Given the description of an element on the screen output the (x, y) to click on. 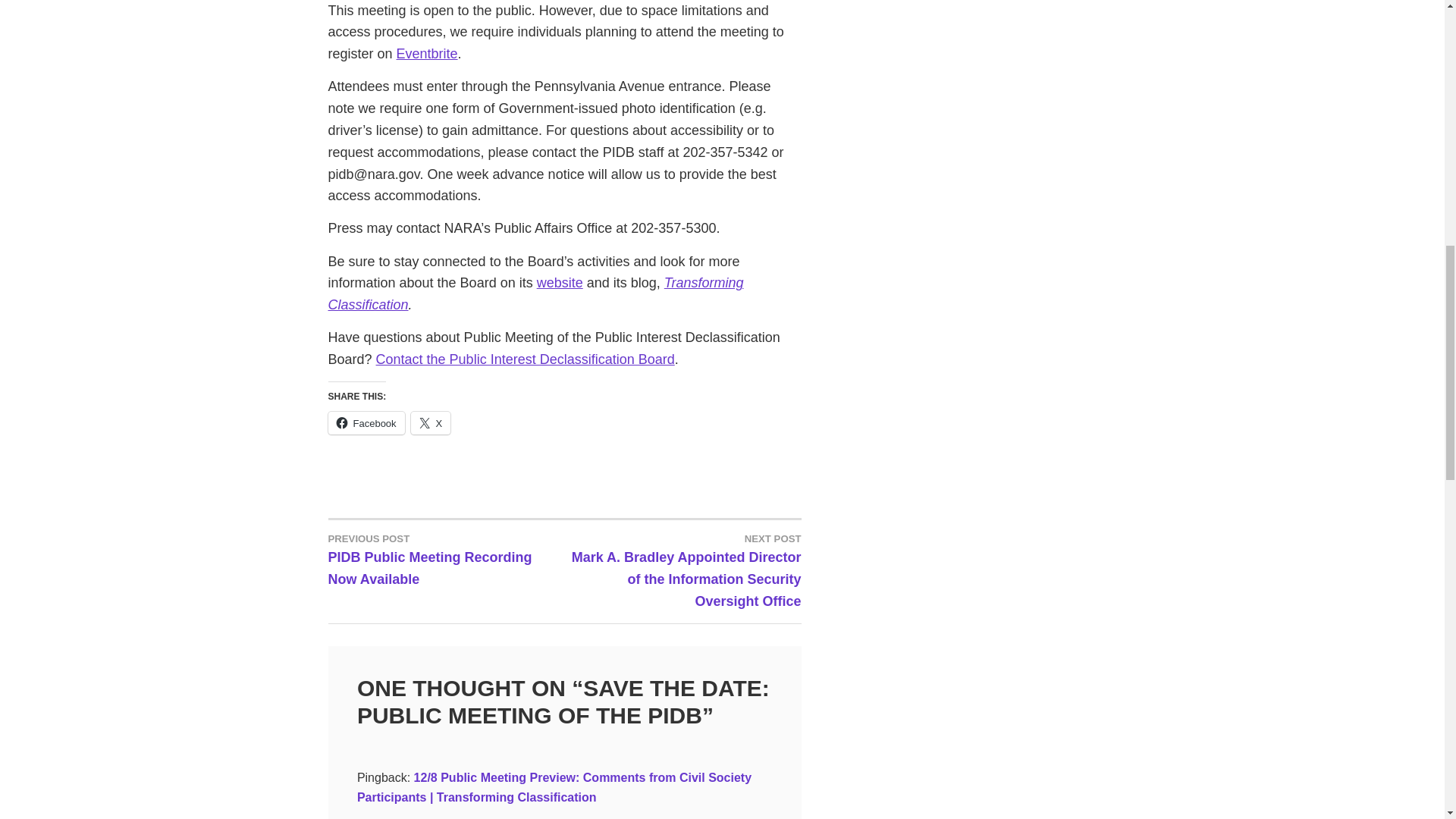
Eventbrite (427, 53)
X (430, 422)
Click to share on Facebook (365, 422)
Facebook (365, 422)
Click to share on X (430, 422)
website (560, 282)
Contact the Public Interest Declassification Board (445, 558)
Transforming Classification (525, 359)
